Given the description of an element on the screen output the (x, y) to click on. 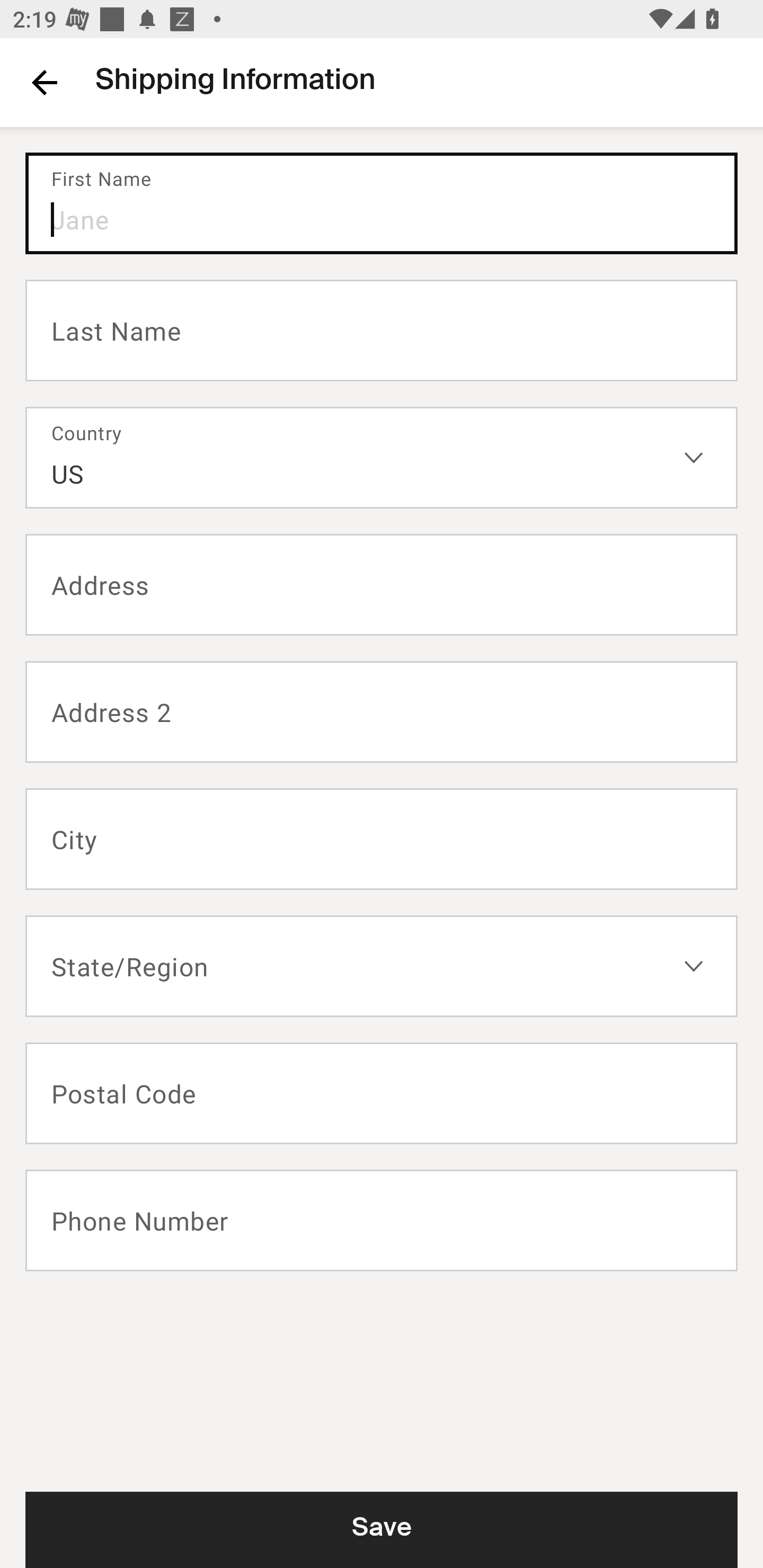
Navigate up (44, 82)
First Name (381, 203)
Last Name (381, 330)
Address (381, 584)
Address 2 (381, 711)
City (381, 839)
Postal Code (381, 1093)
Phone Number (381, 1220)
Save (381, 1529)
